Given the description of an element on the screen output the (x, y) to click on. 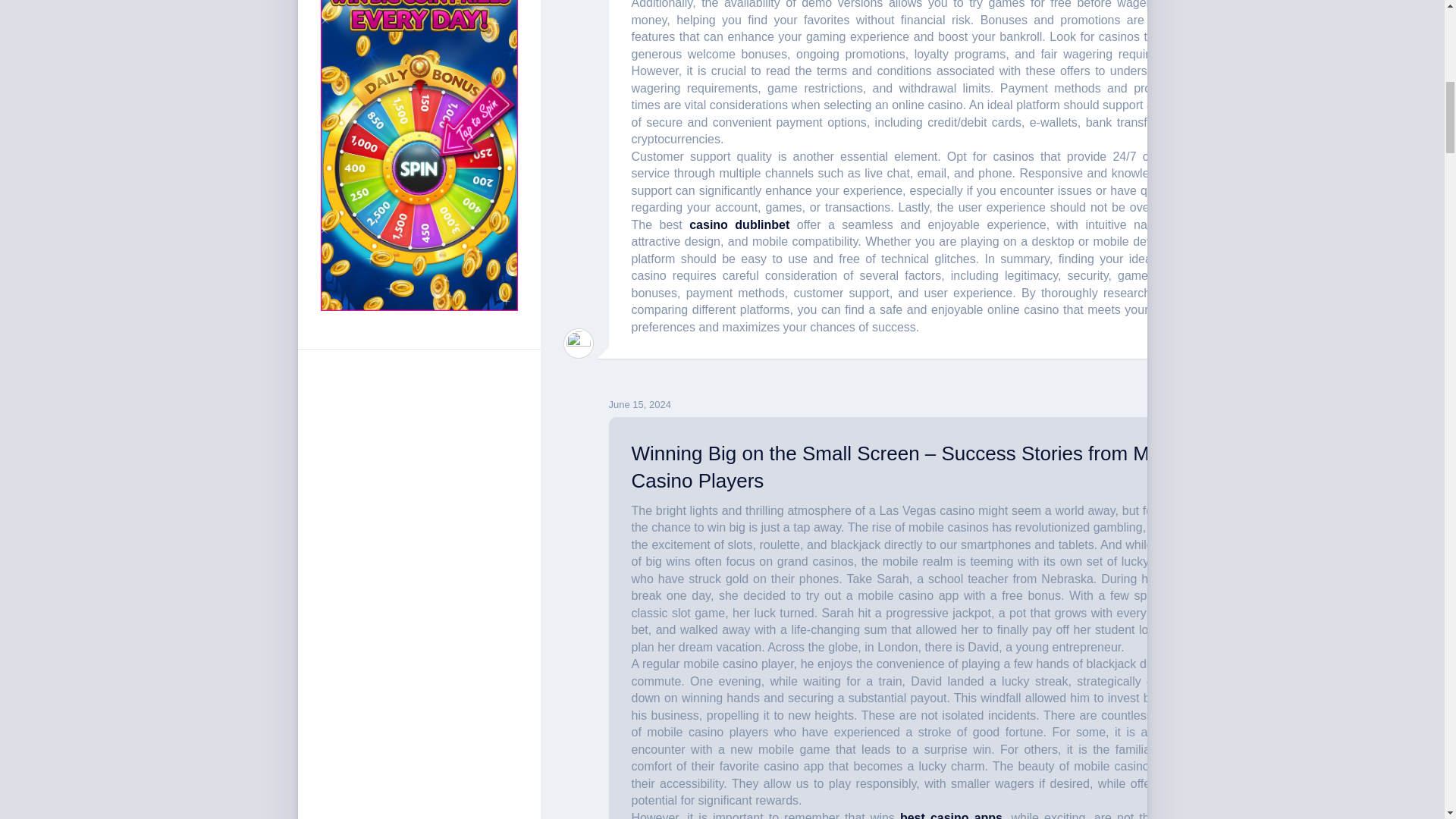
best casino apps (951, 815)
casino dublinbet (738, 224)
